Given the description of an element on the screen output the (x, y) to click on. 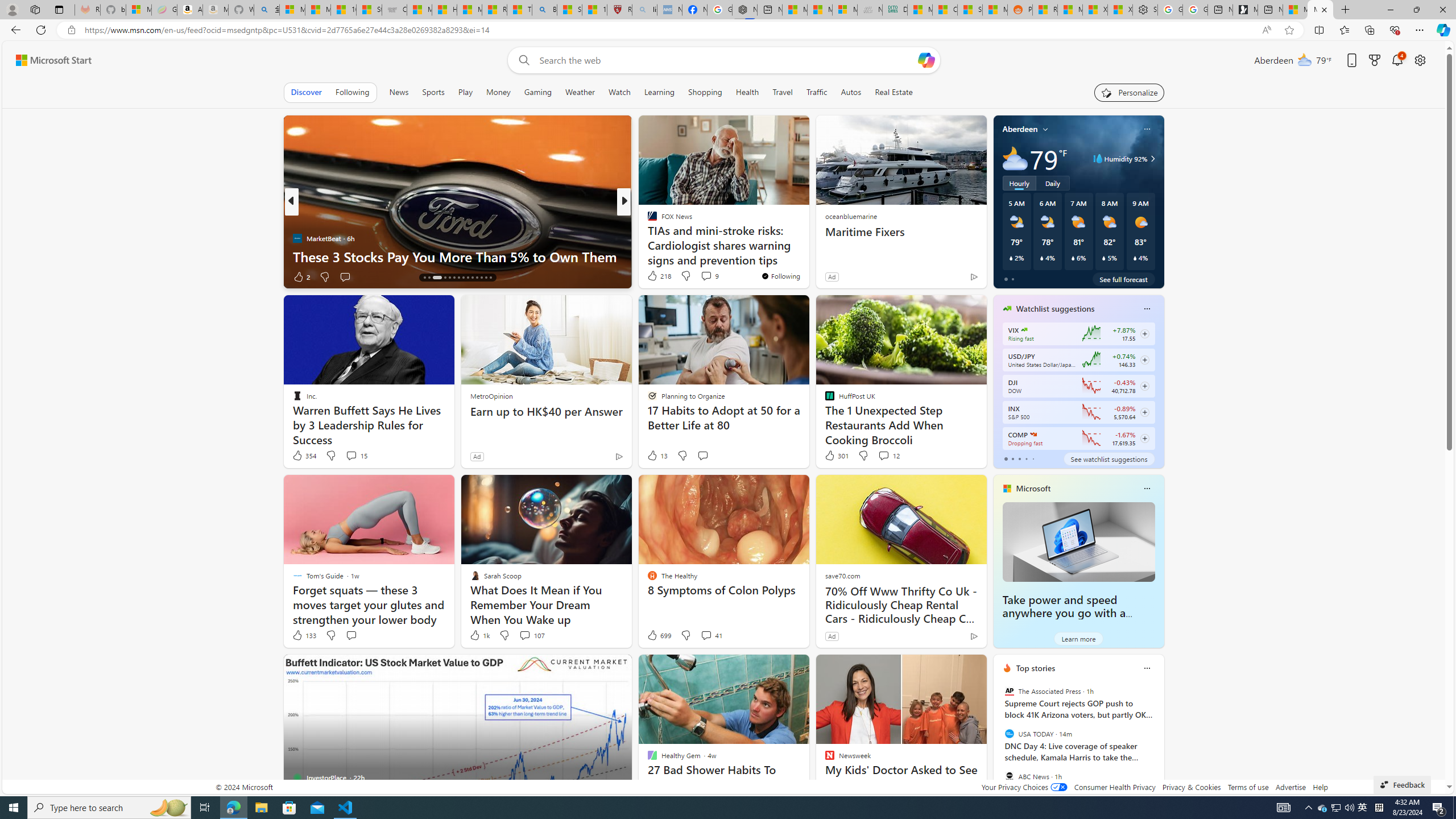
154 Like (654, 276)
876 Like (654, 276)
View comments 66 Comment (703, 276)
AutomationID: tab-23 (467, 277)
View comments 12 Comment (888, 455)
Class: icon-img (1146, 668)
